Given the description of an element on the screen output the (x, y) to click on. 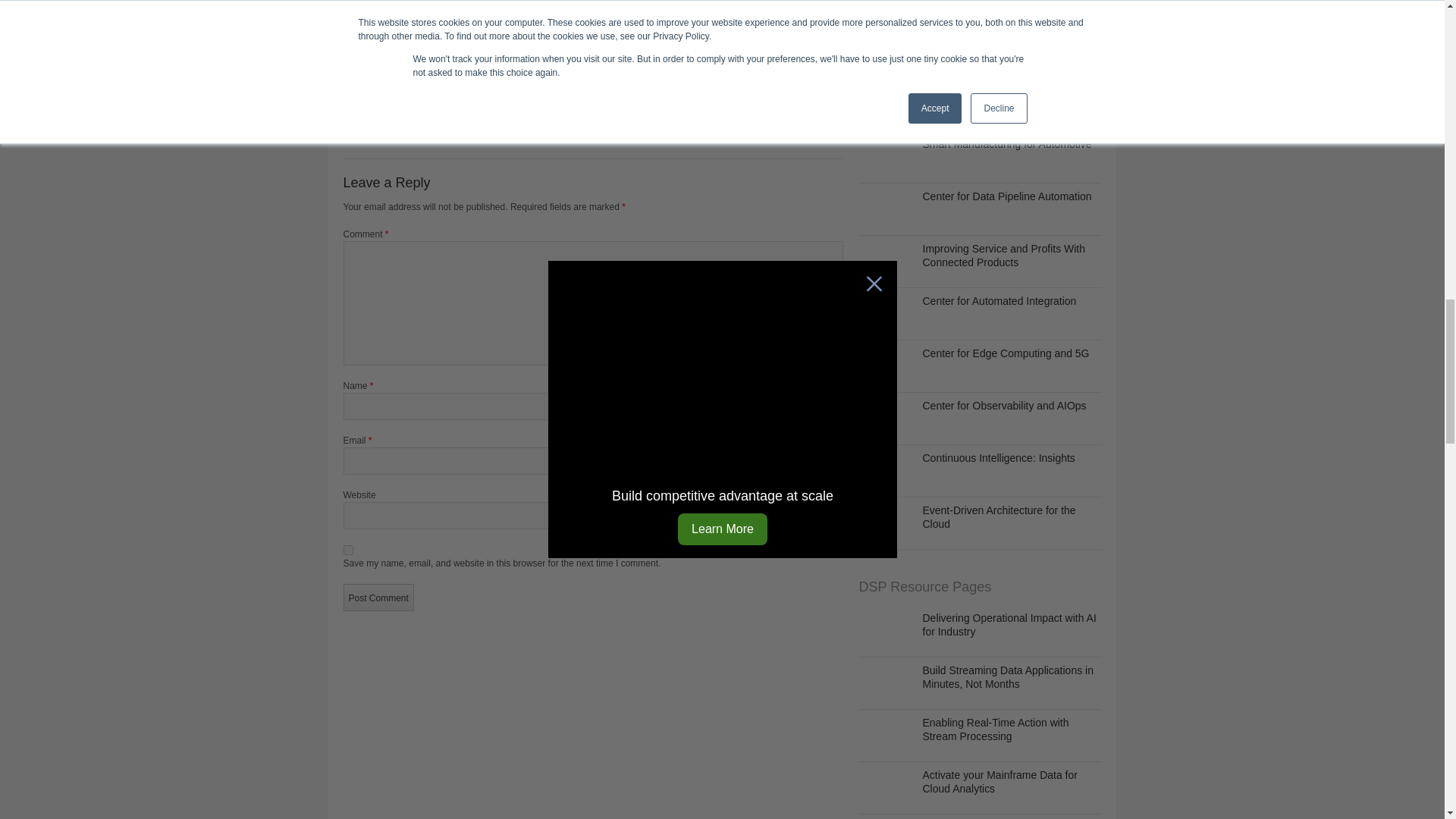
Retailers Expand Deployment of Cashierless Shopping (393, 104)
Retailers Expand Deployment of Cashierless Shopping (399, 37)
yes (347, 550)
Post Comment (377, 596)
